Given the description of an element on the screen output the (x, y) to click on. 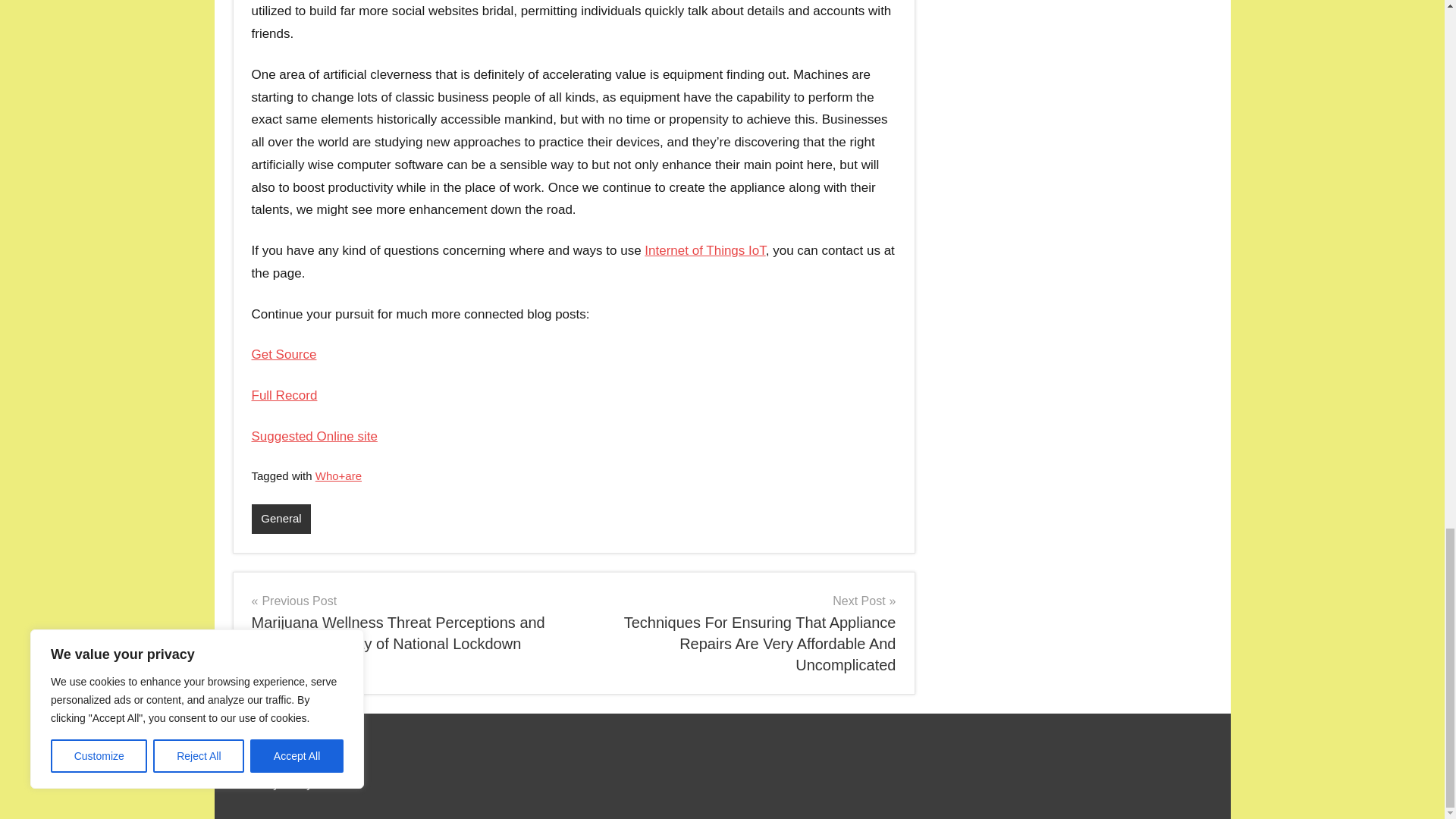
Internet of Things IoT (705, 250)
Get Source (284, 354)
Suggested Online site (314, 436)
General (281, 518)
Full Record (284, 395)
